Given the description of an element on the screen output the (x, y) to click on. 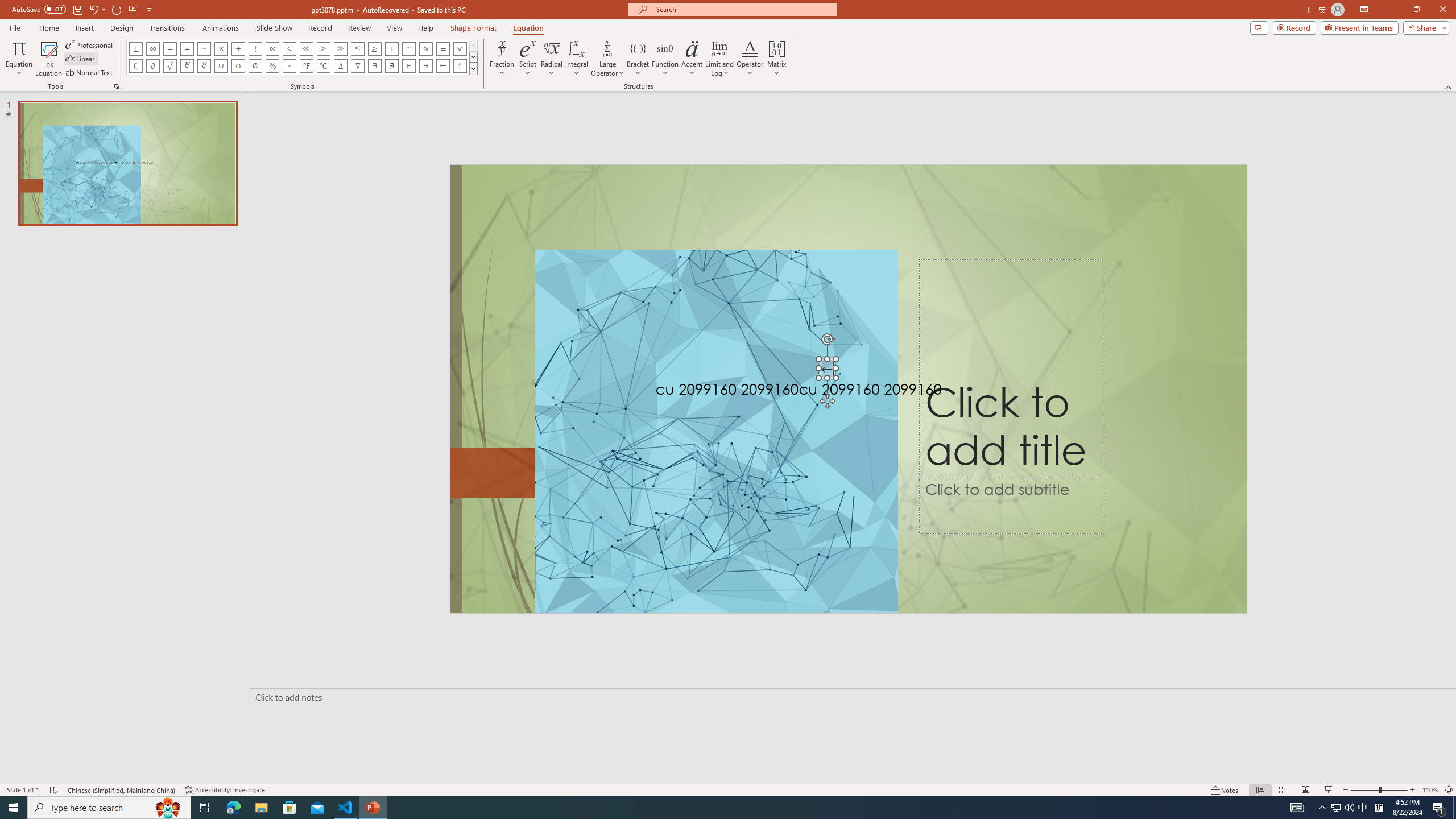
Large Operator (607, 58)
Equation Symbol Degrees (289, 65)
Equation Symbol Equal (170, 48)
Equation Symbol Less Than or Equal To (357, 48)
Equation Symbol Approximately Equal To (408, 48)
Script (527, 58)
Fraction (502, 58)
Function (664, 58)
Equation Symbol Less Than (289, 48)
